Given the description of an element on the screen output the (x, y) to click on. 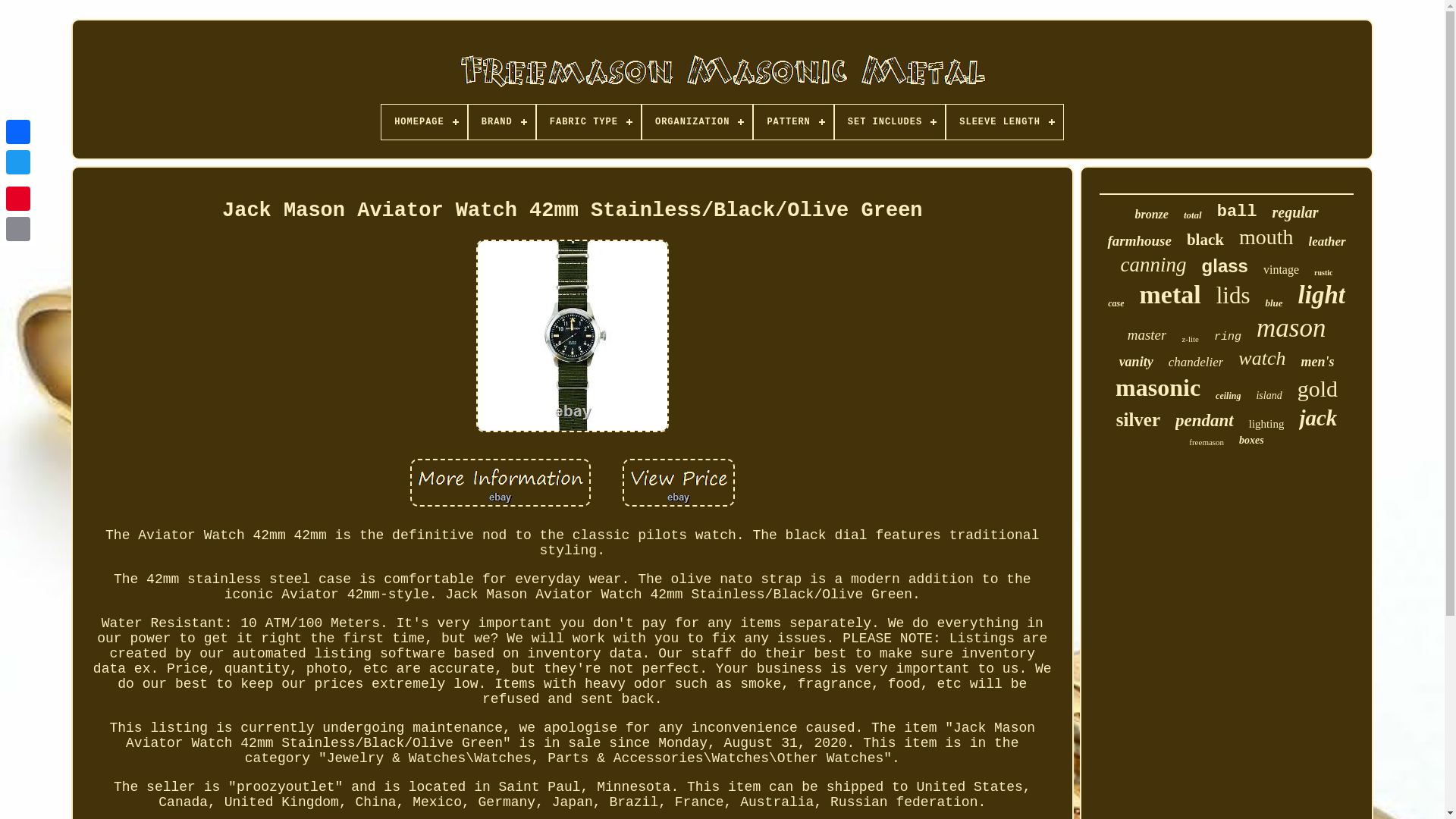
HOMEPAGE (424, 121)
BRAND (501, 121)
FABRIC TYPE (588, 121)
